Given the description of an element on the screen output the (x, y) to click on. 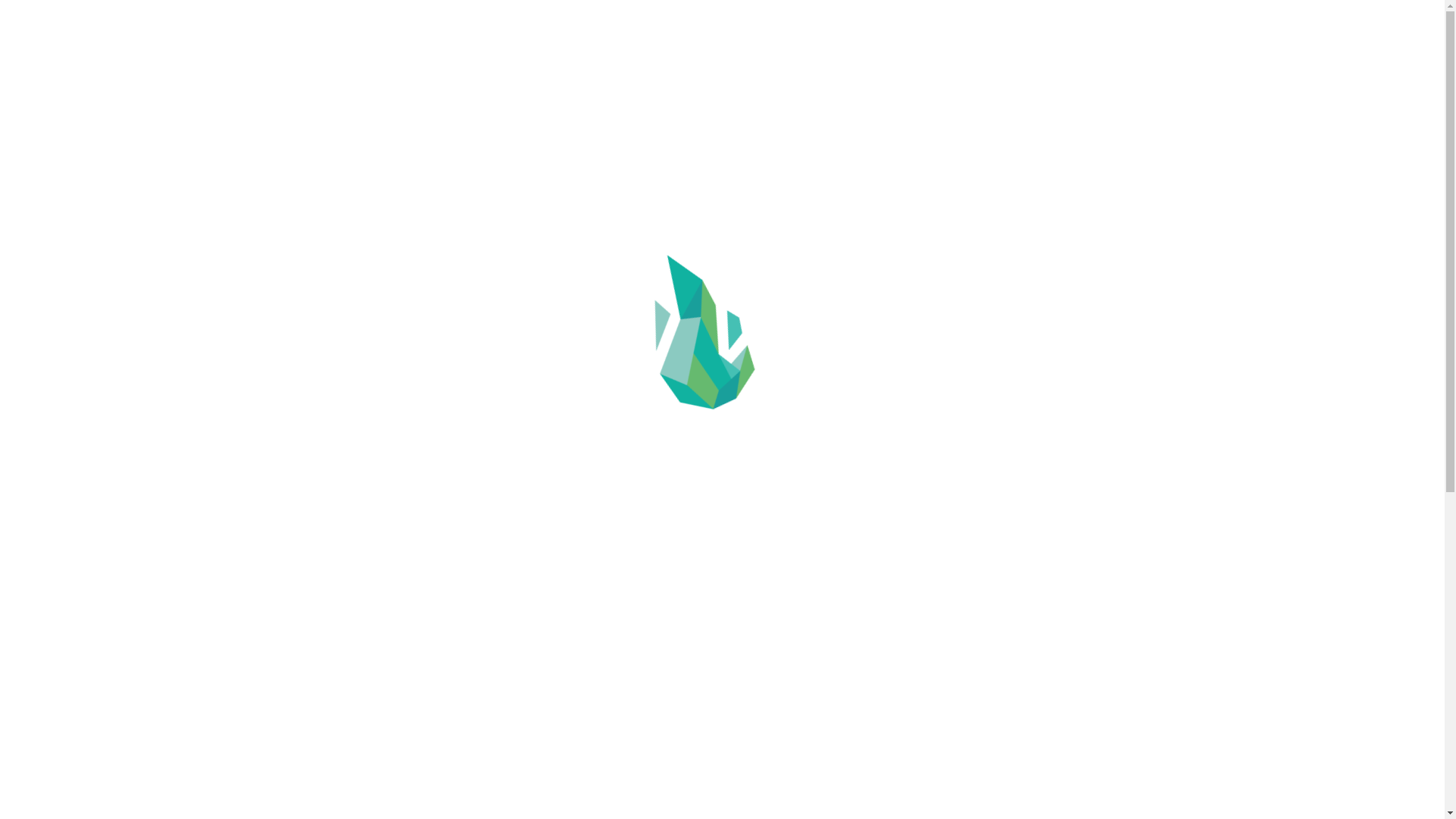
CONTACT Element type: text (1043, 55)
Captured Pixels Element type: text (1153, 628)
2019 ASX Announcements Element type: text (725, 178)
twitter Element type: text (1156, 793)
Download (PDF, Unknown) Element type: text (411, 732)
search Element type: text (1185, 54)
INVESTORS Element type: text (974, 55)
HOME Element type: text (766, 55)
LINKEDIN Element type: text (1139, 54)
TWITTER Element type: text (1112, 54)
PROJECTS Element type: text (903, 55)
linkedin Element type: text (1186, 793)
ASX: JGH Element type: text (721, 601)
CORPORATE Element type: text (830, 55)
No Comments Element type: text (768, 261)
